Given the description of an element on the screen output the (x, y) to click on. 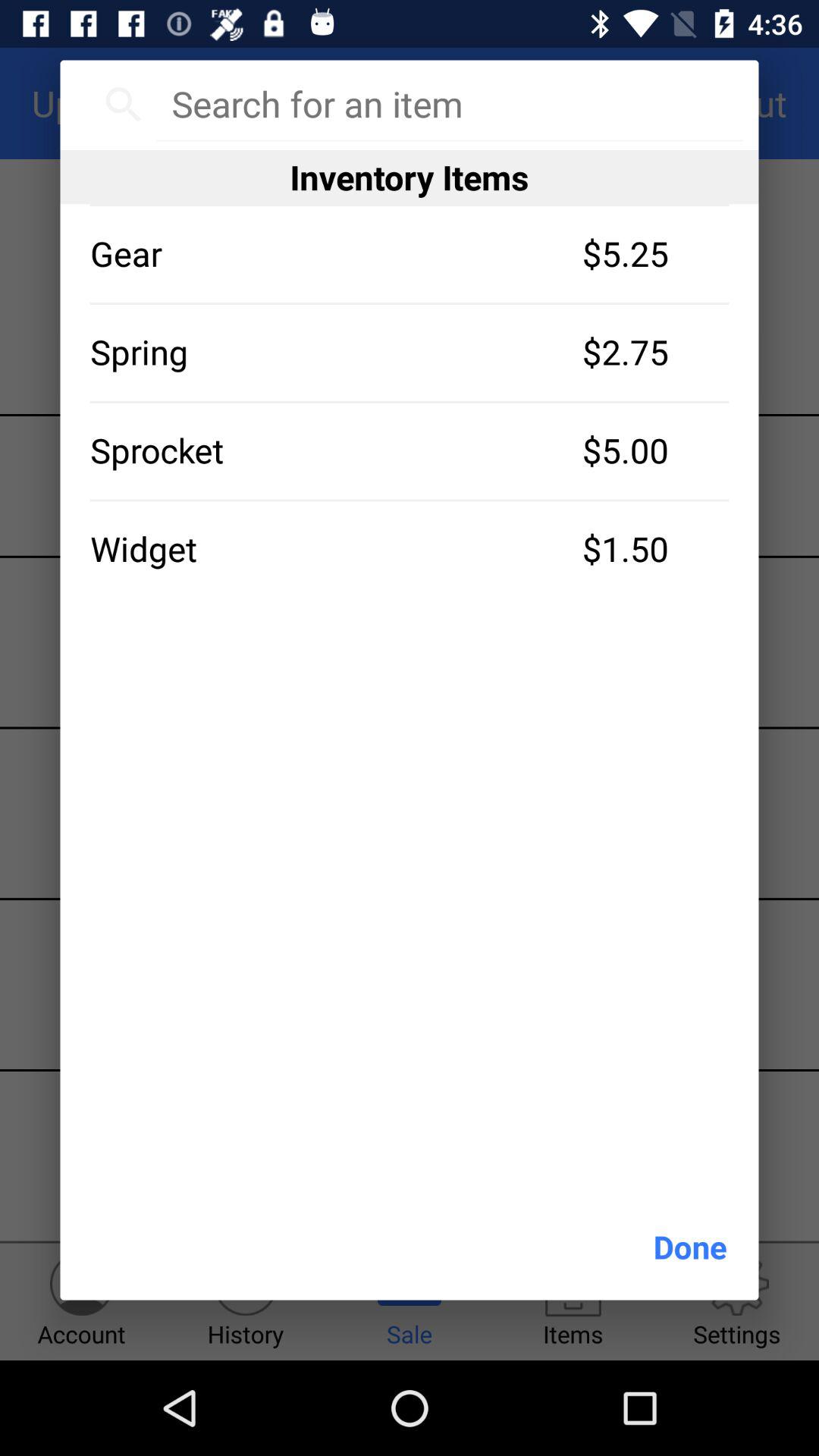
press done item (689, 1246)
